Given the description of an element on the screen output the (x, y) to click on. 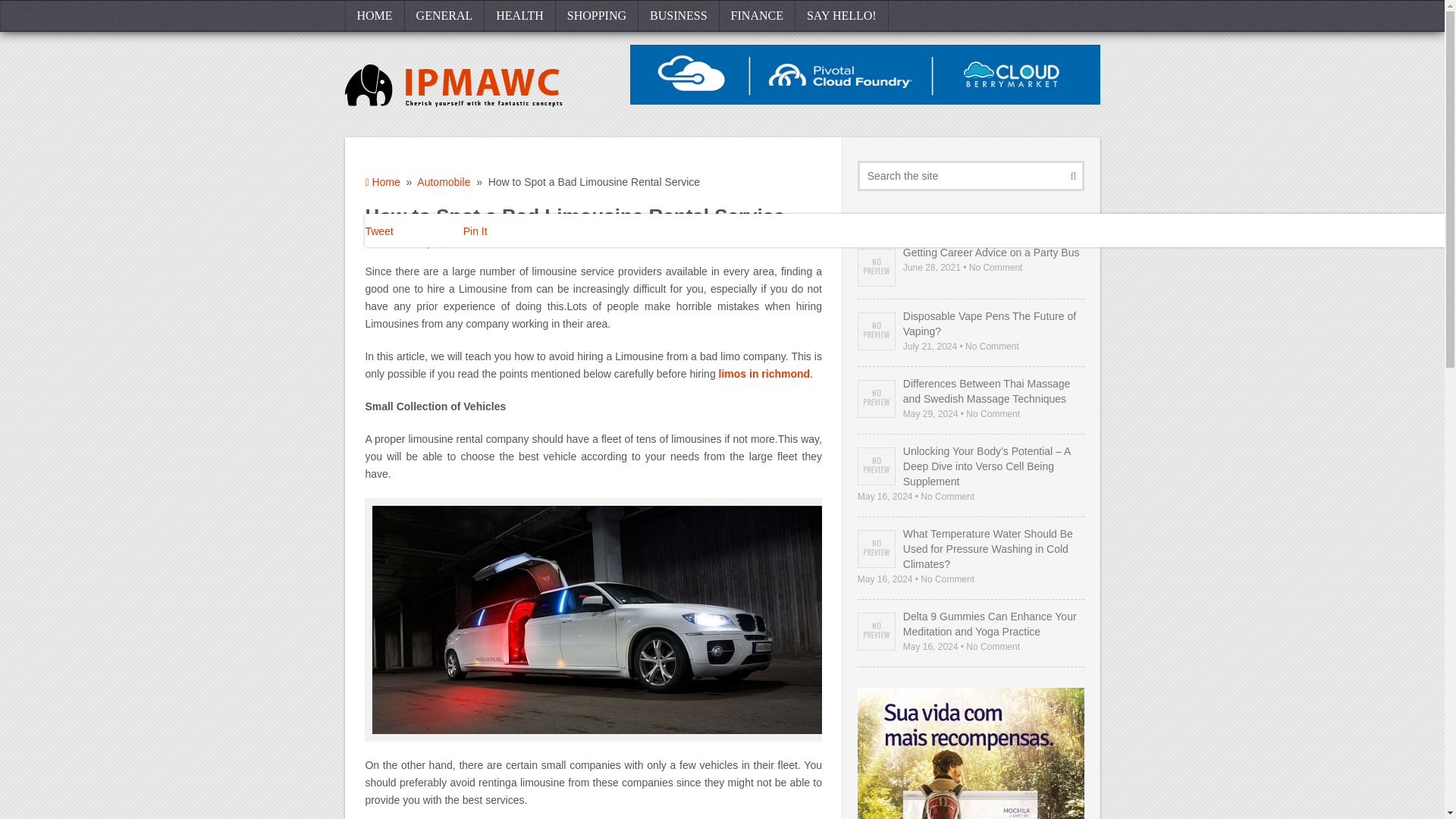
Pin It (475, 231)
Posts by Dimen (385, 242)
HEALTH (520, 15)
SHOPPING (597, 15)
SAY HELLO! (841, 15)
FINANCE (756, 15)
Automobile (443, 182)
limos in richmond (764, 373)
HOME (373, 15)
 Home (381, 182)
Disposable Vape Pens The Future of Vaping? (970, 323)
Dimen (385, 242)
